Given the description of an element on the screen output the (x, y) to click on. 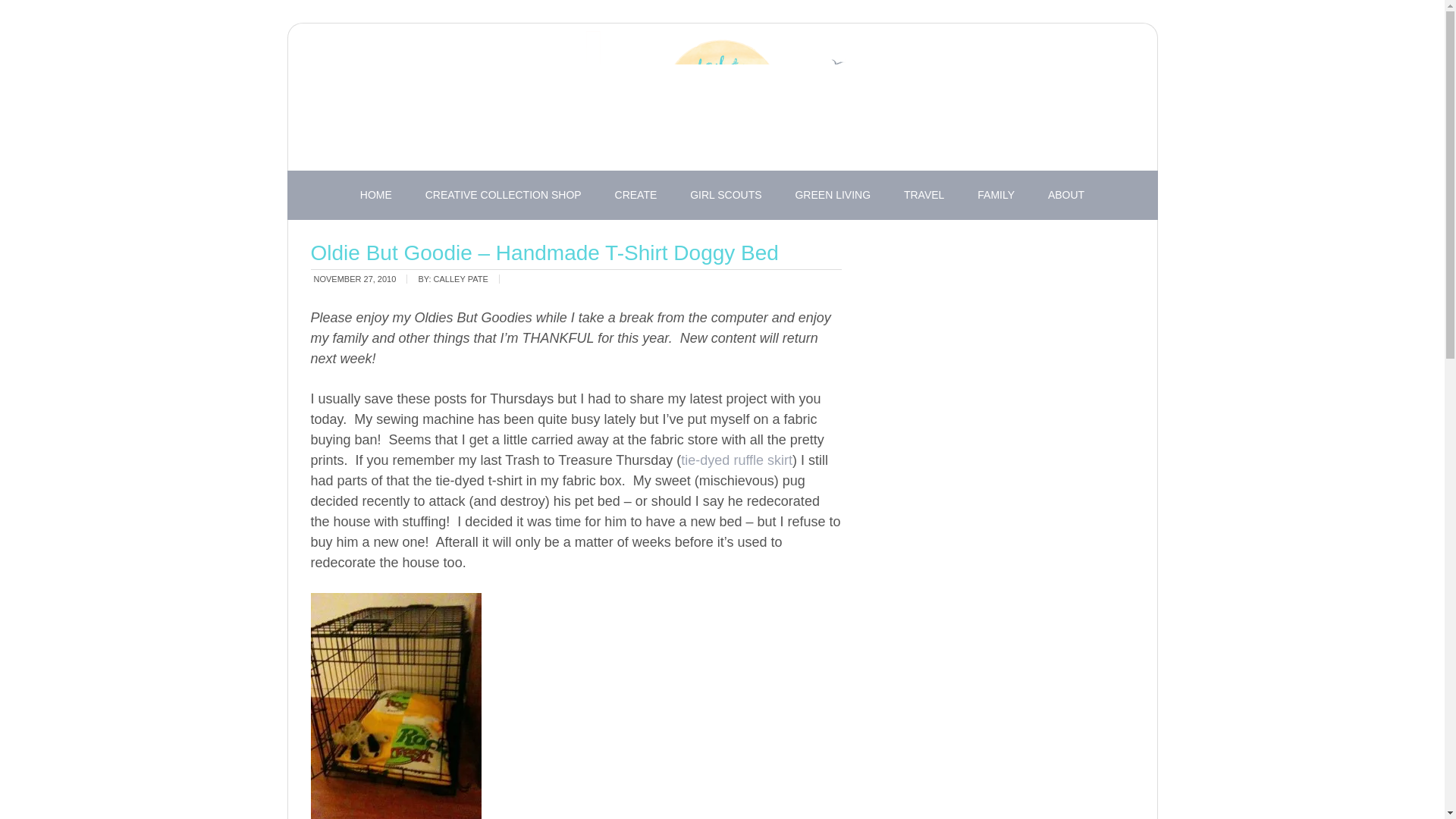
CREATE (635, 195)
CREATIVE COLLECTION SHOP (503, 195)
GREEN LIVING (831, 195)
TRAVEL (923, 195)
GIRL SCOUTS (725, 195)
FAMILY (995, 195)
HOME (376, 195)
